Given the description of an element on the screen output the (x, y) to click on. 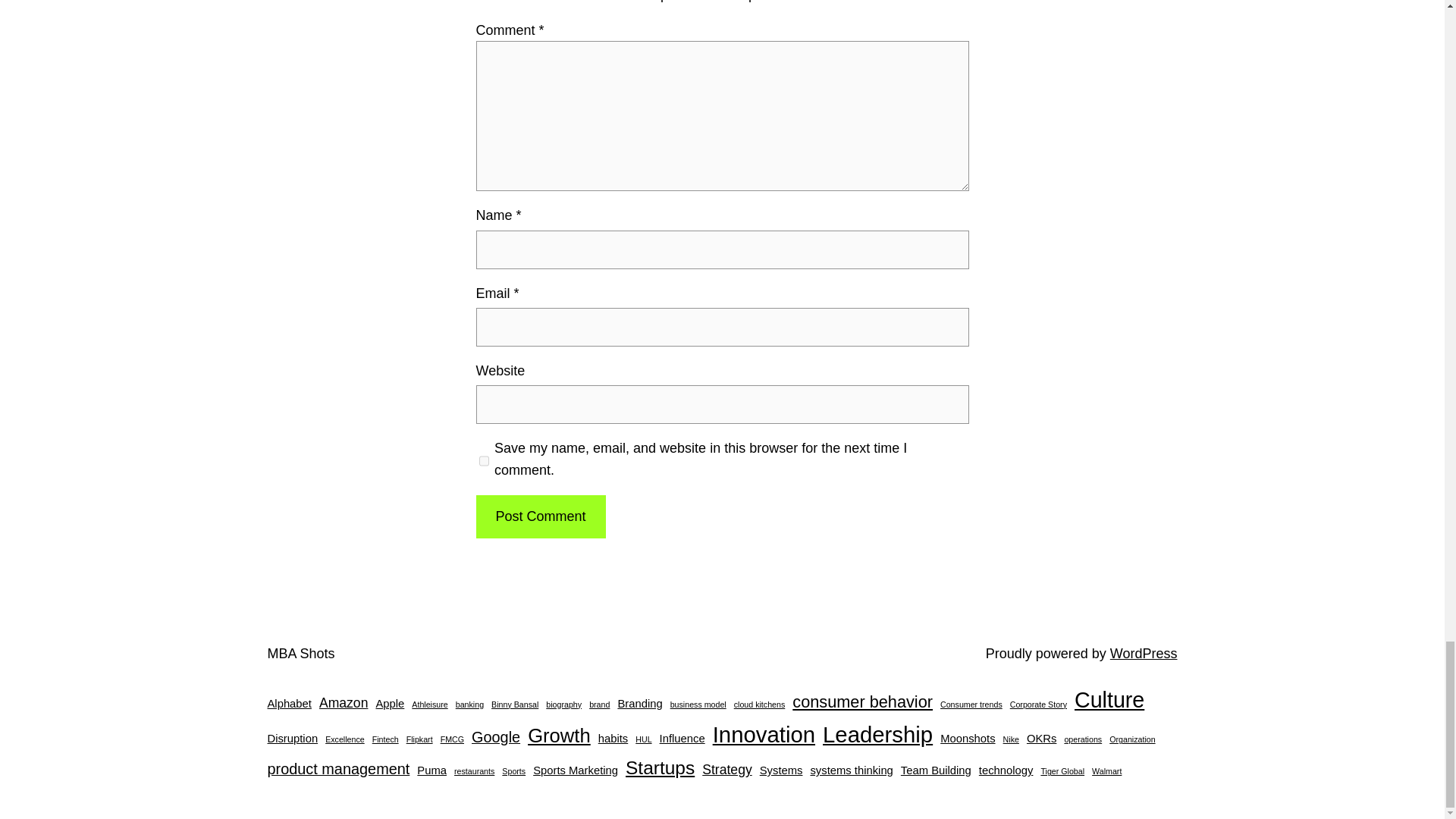
cloud kitchens (759, 704)
OKRs (1041, 739)
MBA Shots (300, 653)
Apple (389, 704)
WordPress (1143, 653)
Nike (1011, 739)
business model (697, 704)
banking (469, 704)
Excellence (344, 739)
Culture (1109, 700)
FMCG (452, 739)
Fintech (385, 739)
yes (484, 461)
brand (599, 704)
Flipkart (419, 739)
